Given the description of an element on the screen output the (x, y) to click on. 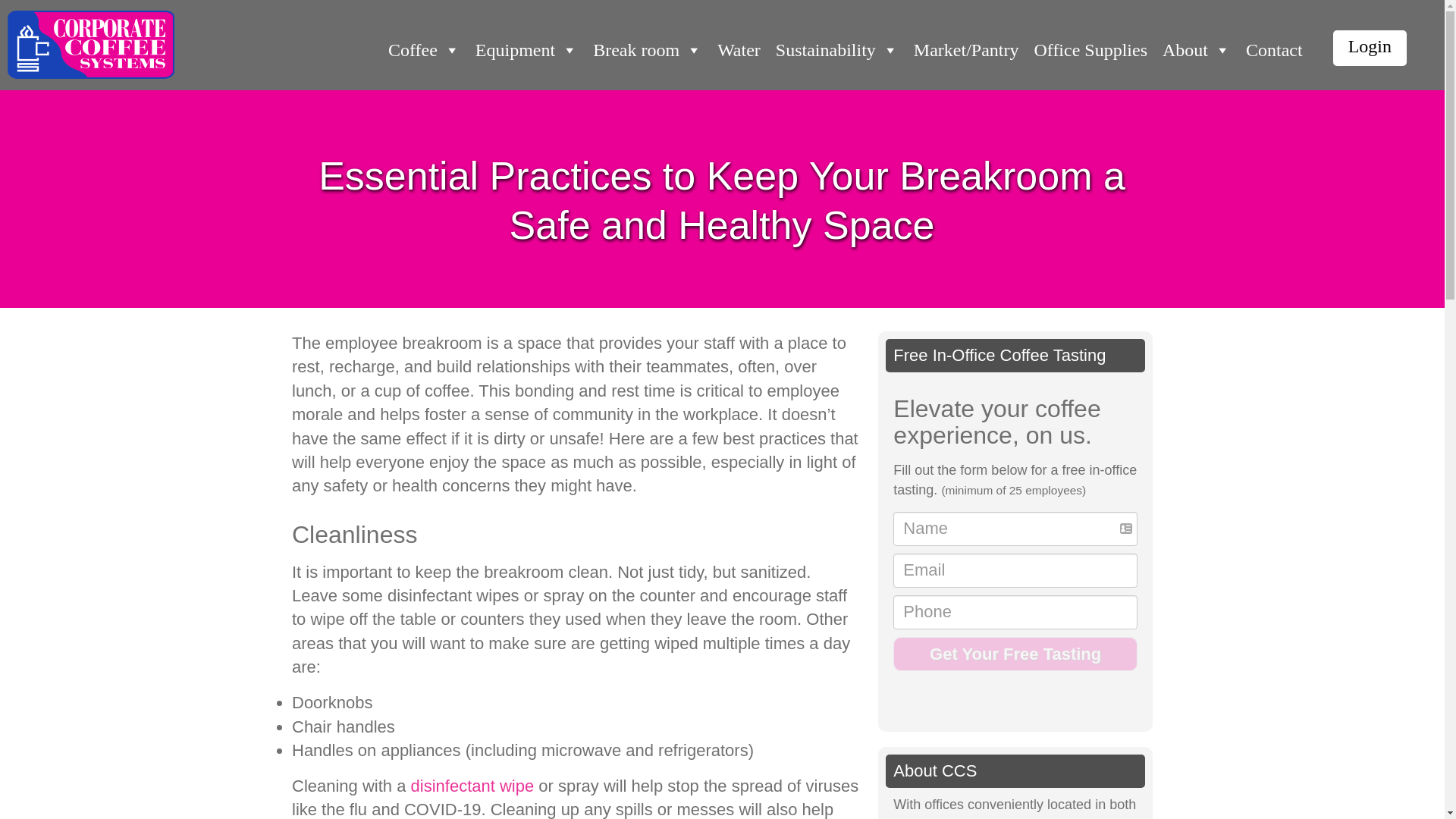
Get Your Free Tasting (1015, 653)
Coffee (423, 48)
Equipment (526, 48)
